Given the description of an element on the screen output the (x, y) to click on. 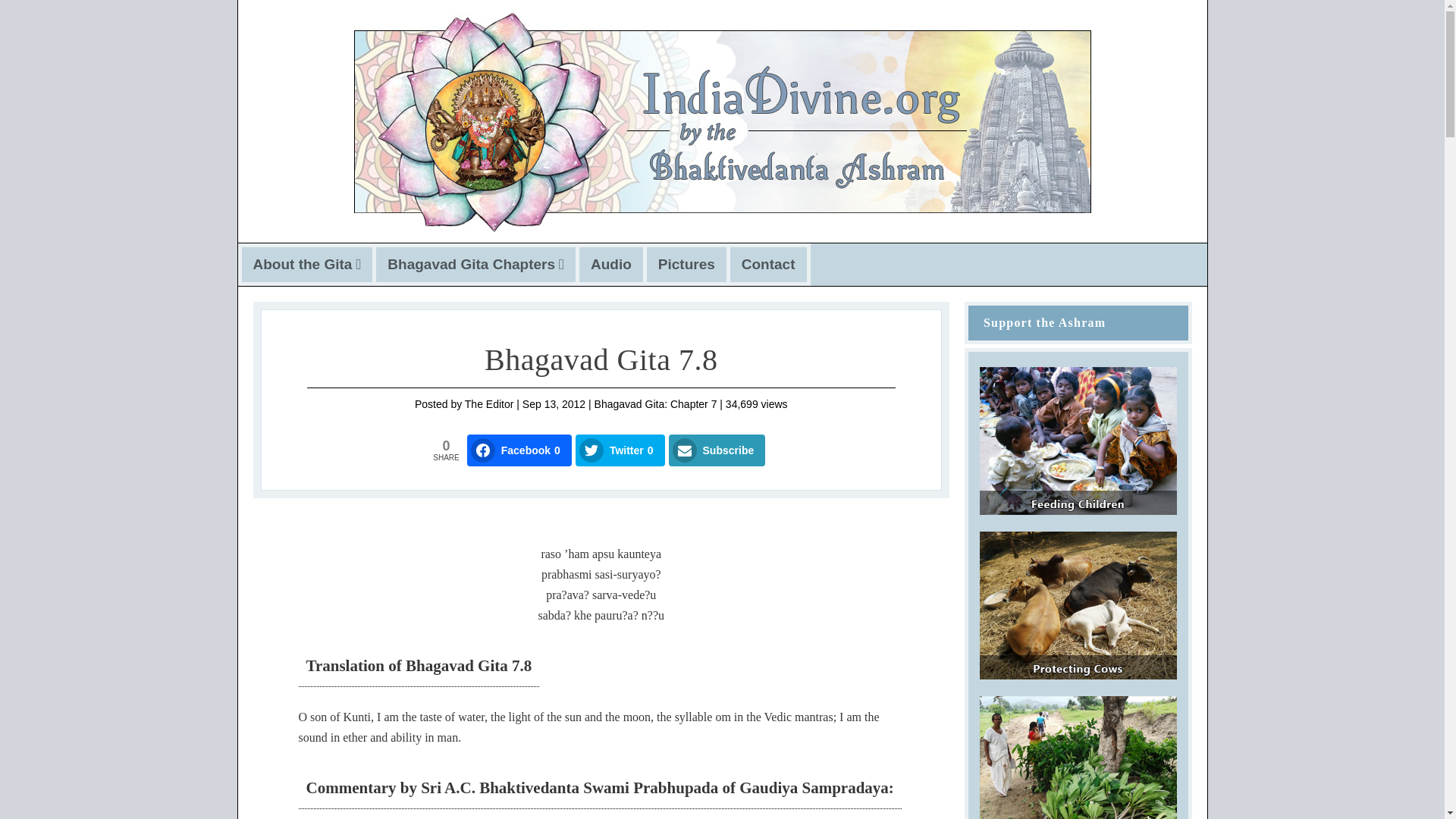
Share on Facebook (519, 450)
Posts by The Editor (488, 404)
About the Gita (307, 264)
Share on Twitter (620, 450)
Share on Subscribe (716, 450)
Contact (767, 264)
Pictures (686, 264)
Bhagavad Gita Chapters (475, 264)
Audio (611, 264)
